Given the description of an element on the screen output the (x, y) to click on. 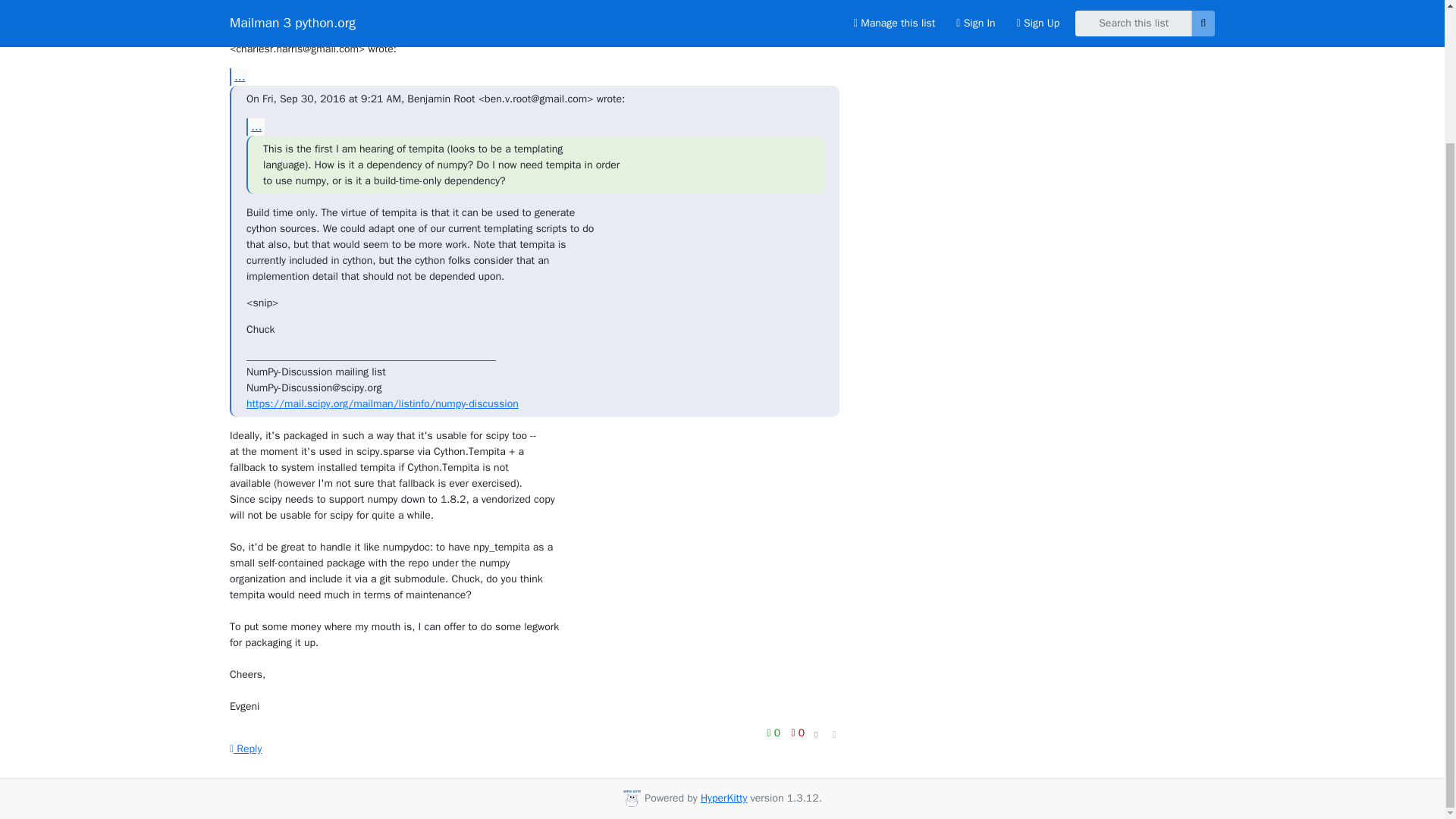
0 (774, 732)
HyperKitty (724, 797)
... (255, 126)
You must be logged-in to vote. (774, 732)
Back to the list (899, 6)
... (238, 76)
Reply (246, 748)
You must be logged-in to vote. (797, 732)
0 (797, 732)
Reply (246, 748)
